Given the description of an element on the screen output the (x, y) to click on. 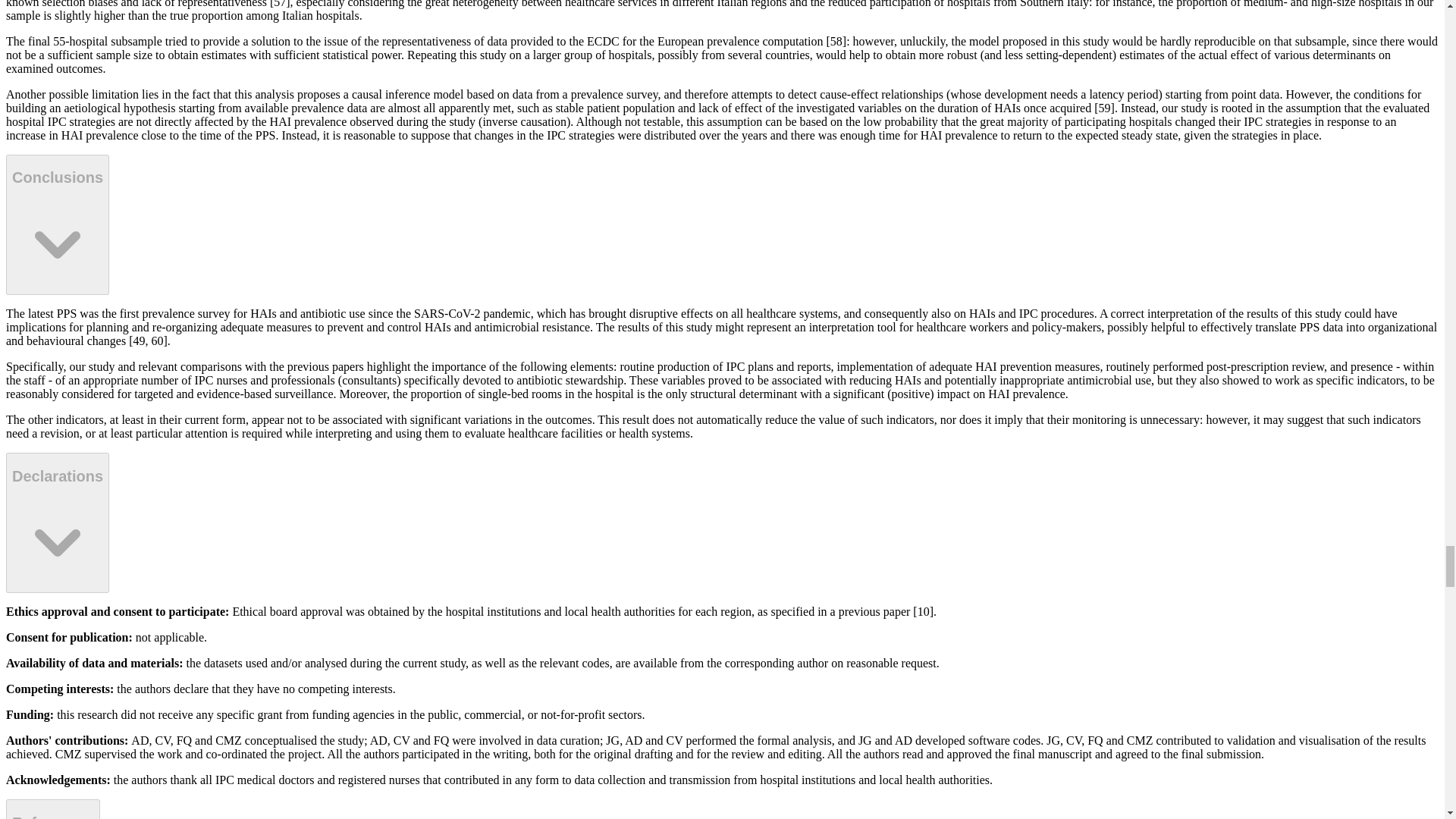
References (52, 809)
Declarations (57, 522)
Conclusions (57, 224)
